Given the description of an element on the screen output the (x, y) to click on. 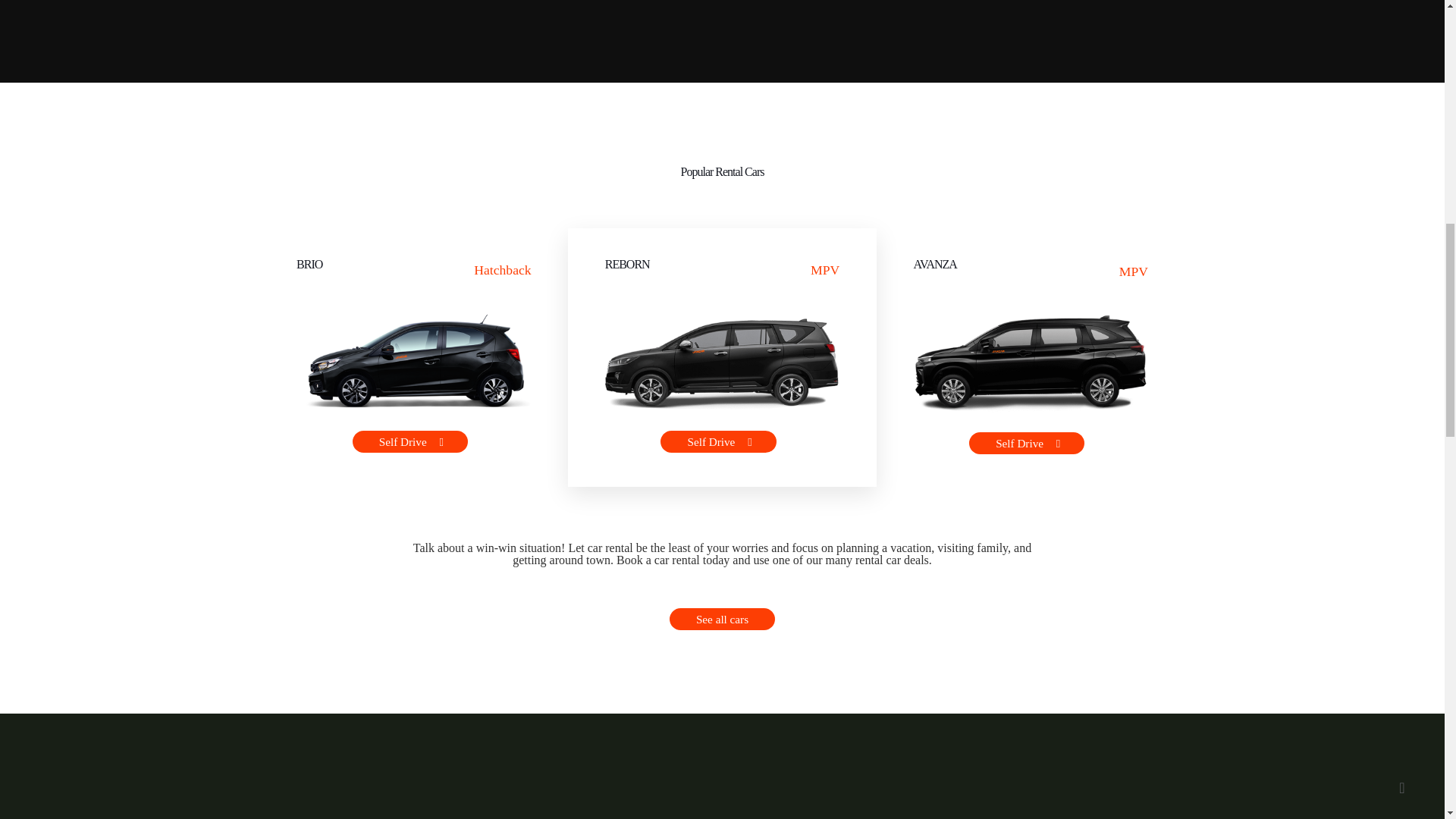
See all cars (721, 618)
Self Drive (718, 441)
Self Drive (1026, 443)
Self Drive (409, 441)
